Given the description of an element on the screen output the (x, y) to click on. 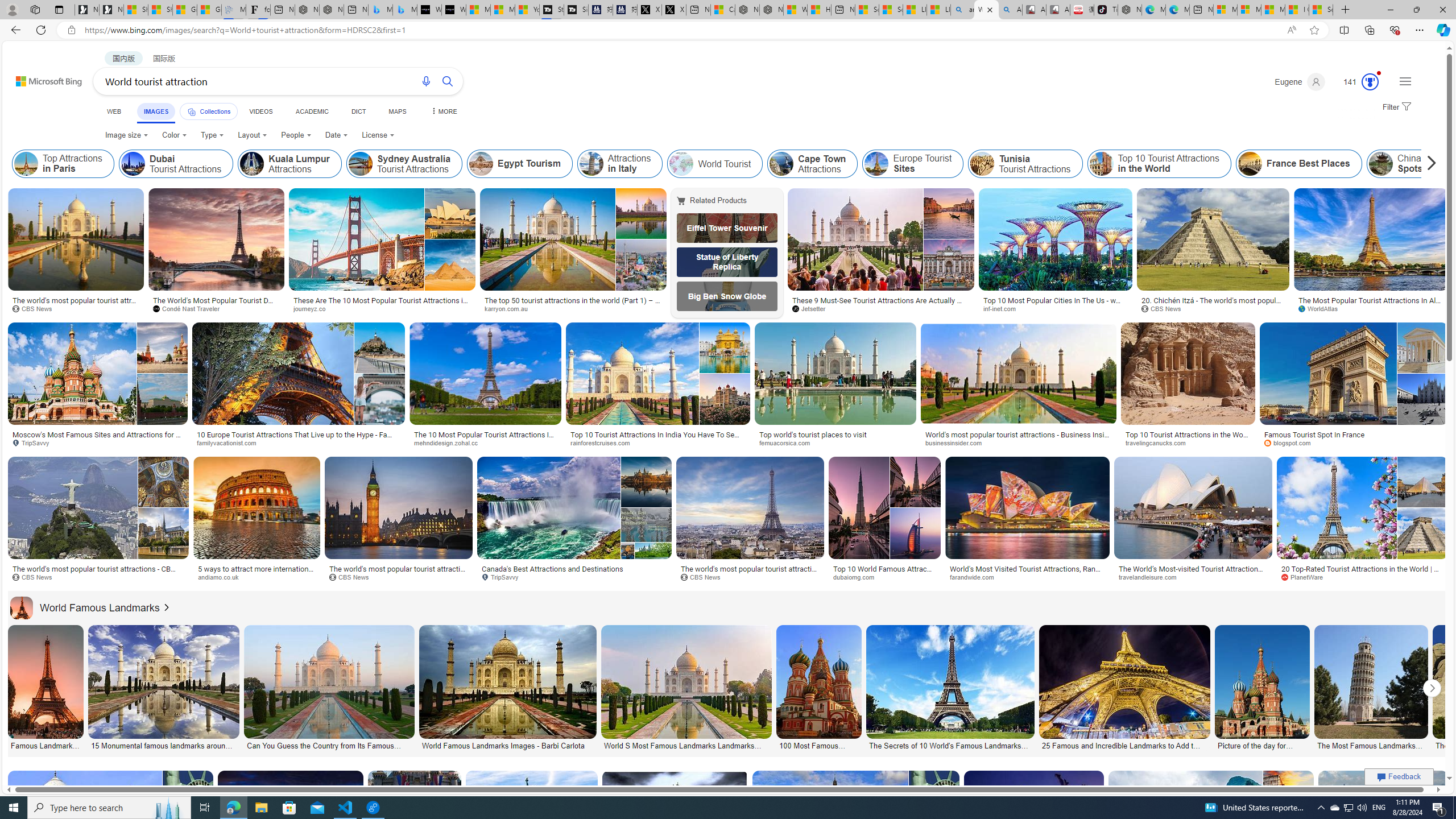
Top world's tourist places to visitfemuacorsica.comSave (837, 387)
dubaiomg.com (857, 576)
rainforestcruises.com (657, 442)
